Given the description of an element on the screen output the (x, y) to click on. 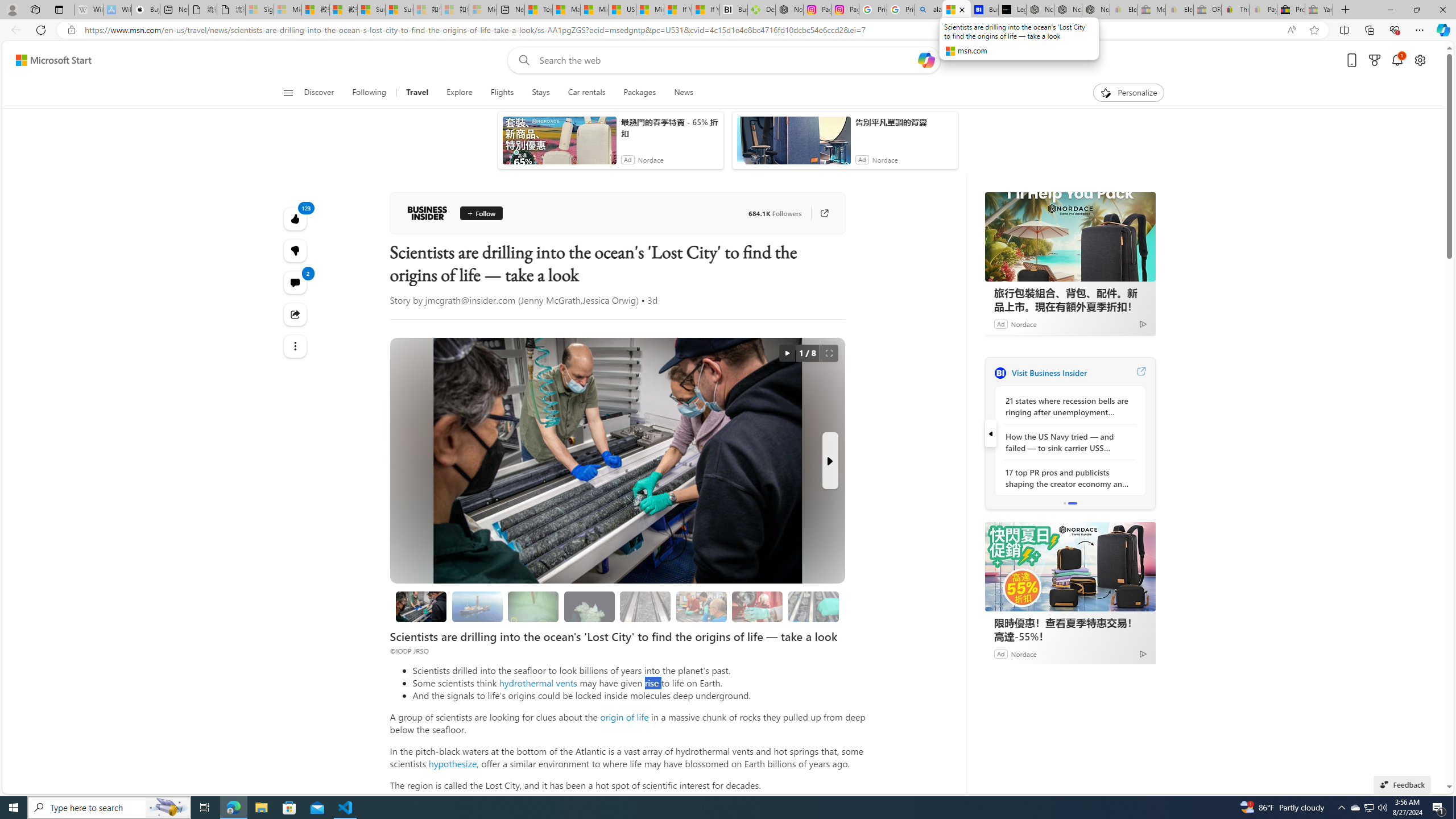
Sign in to your Microsoft account - Sleeping (259, 9)
Go to publisher's site (823, 213)
Marine life - MSN (566, 9)
Class: at-item (295, 345)
